Given the description of an element on the screen output the (x, y) to click on. 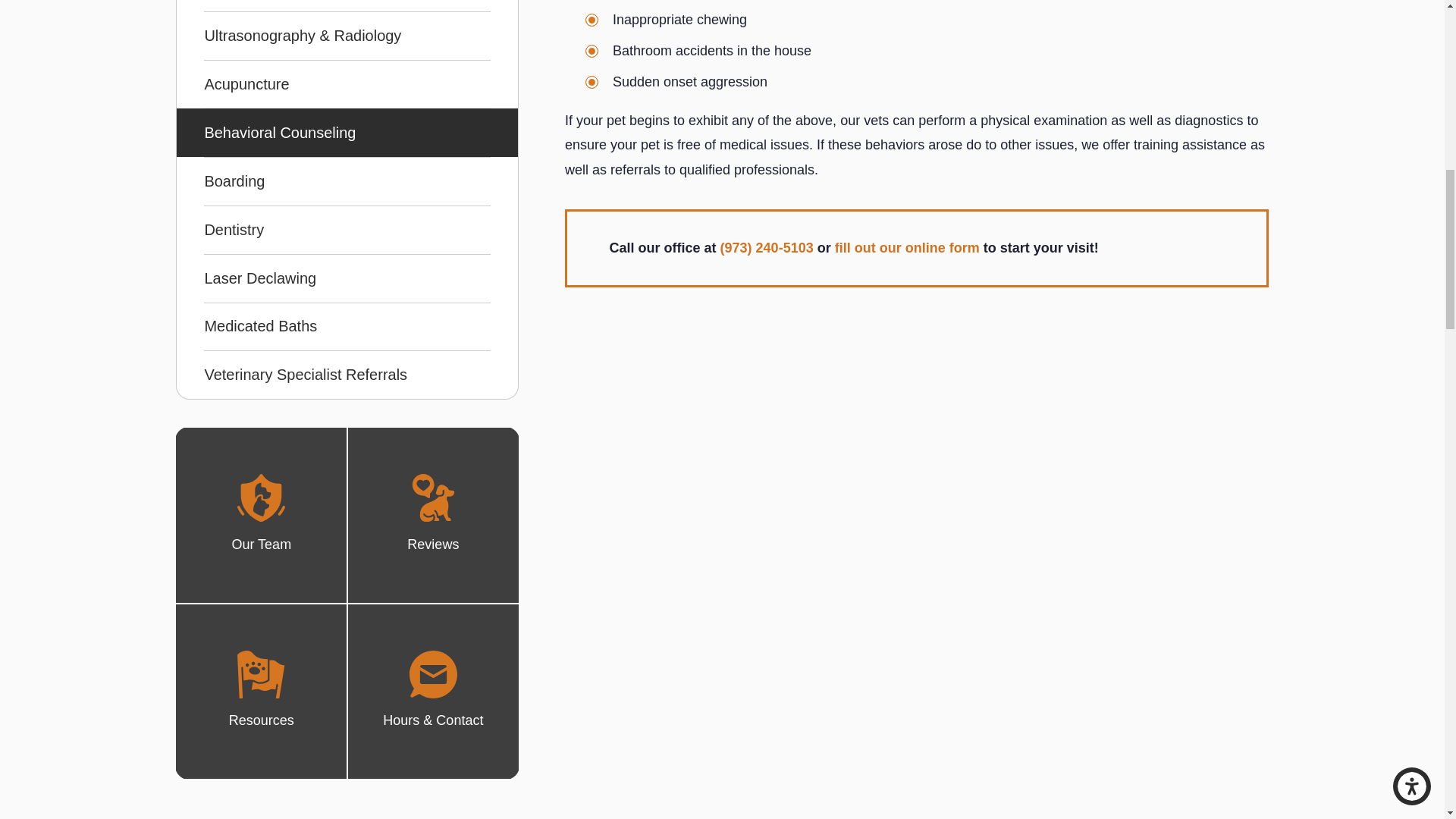
Our Team (261, 497)
Resources (261, 674)
Reviews (433, 497)
